Given the description of an element on the screen output the (x, y) to click on. 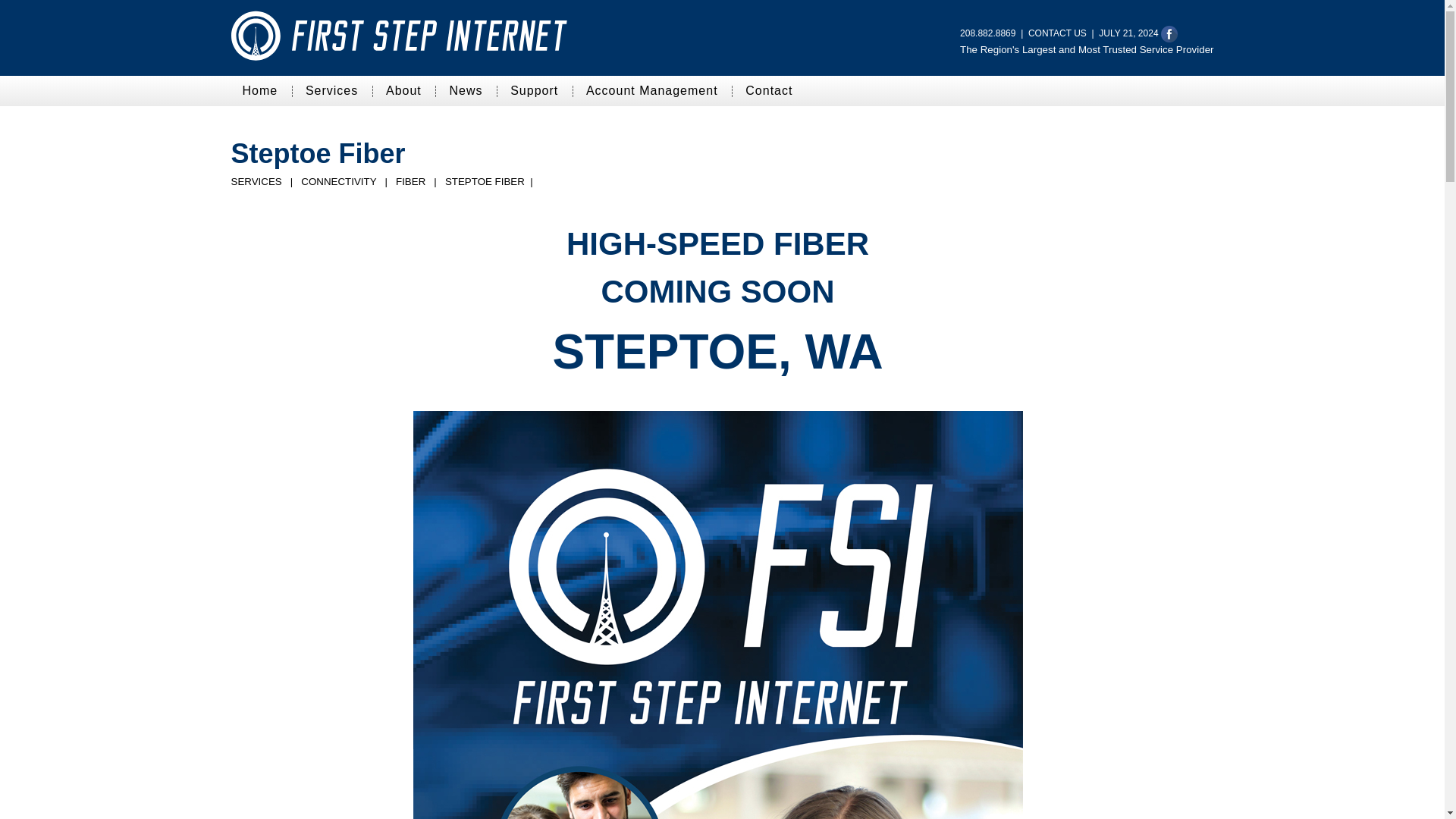
Support (534, 90)
Contact Us (1056, 32)
CONTACT US (1056, 32)
Like Us (1168, 32)
Home (259, 90)
The Region's Largest and Most Trusted Service Provider (1085, 47)
News (465, 90)
About (403, 90)
Services (331, 90)
